Given the description of an element on the screen output the (x, y) to click on. 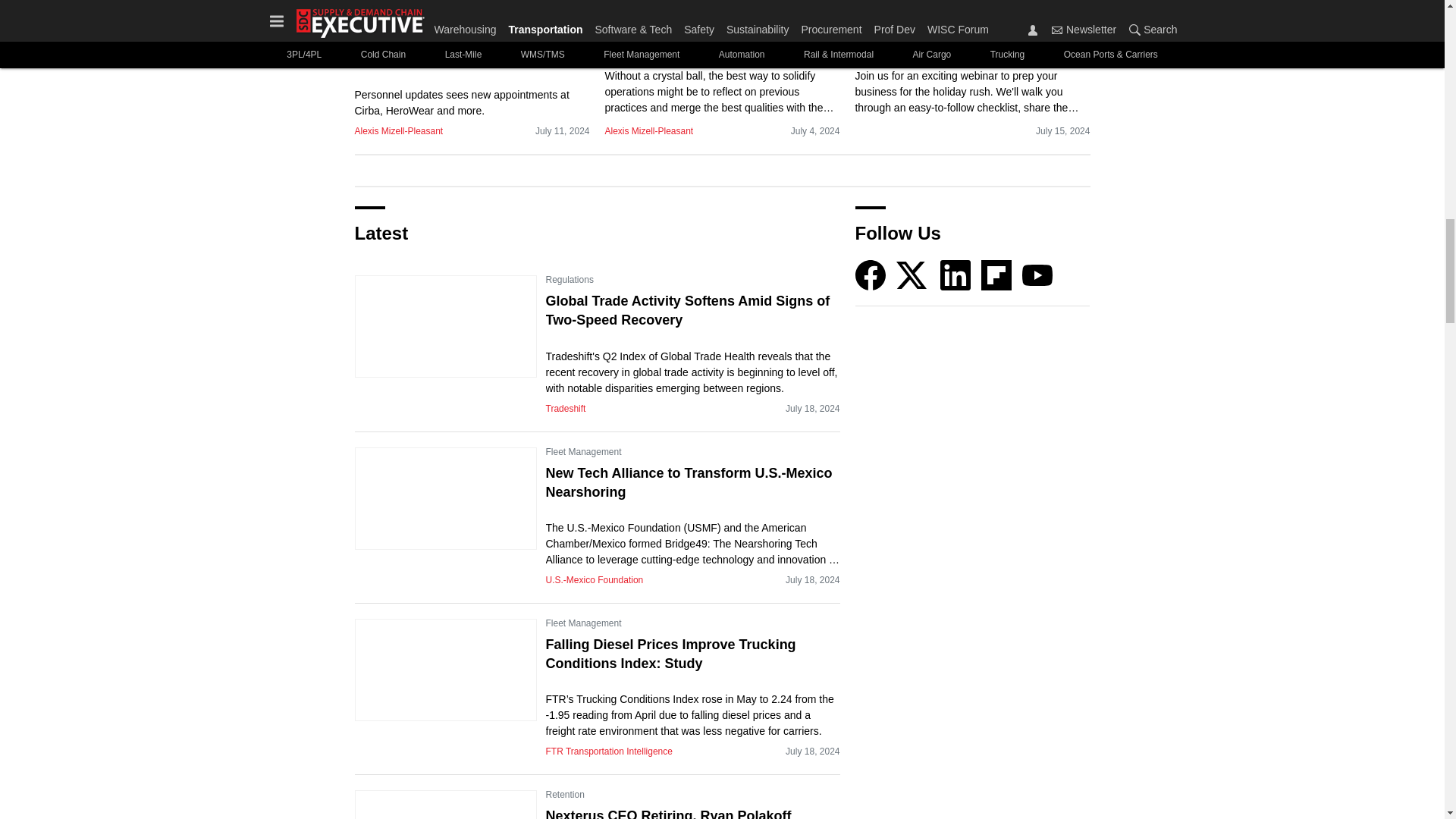
Flipboard icon (996, 275)
Twitter X icon (911, 275)
LinkedIn icon (955, 275)
Facebook icon (870, 275)
YouTube icon (1037, 275)
